Given the description of an element on the screen output the (x, y) to click on. 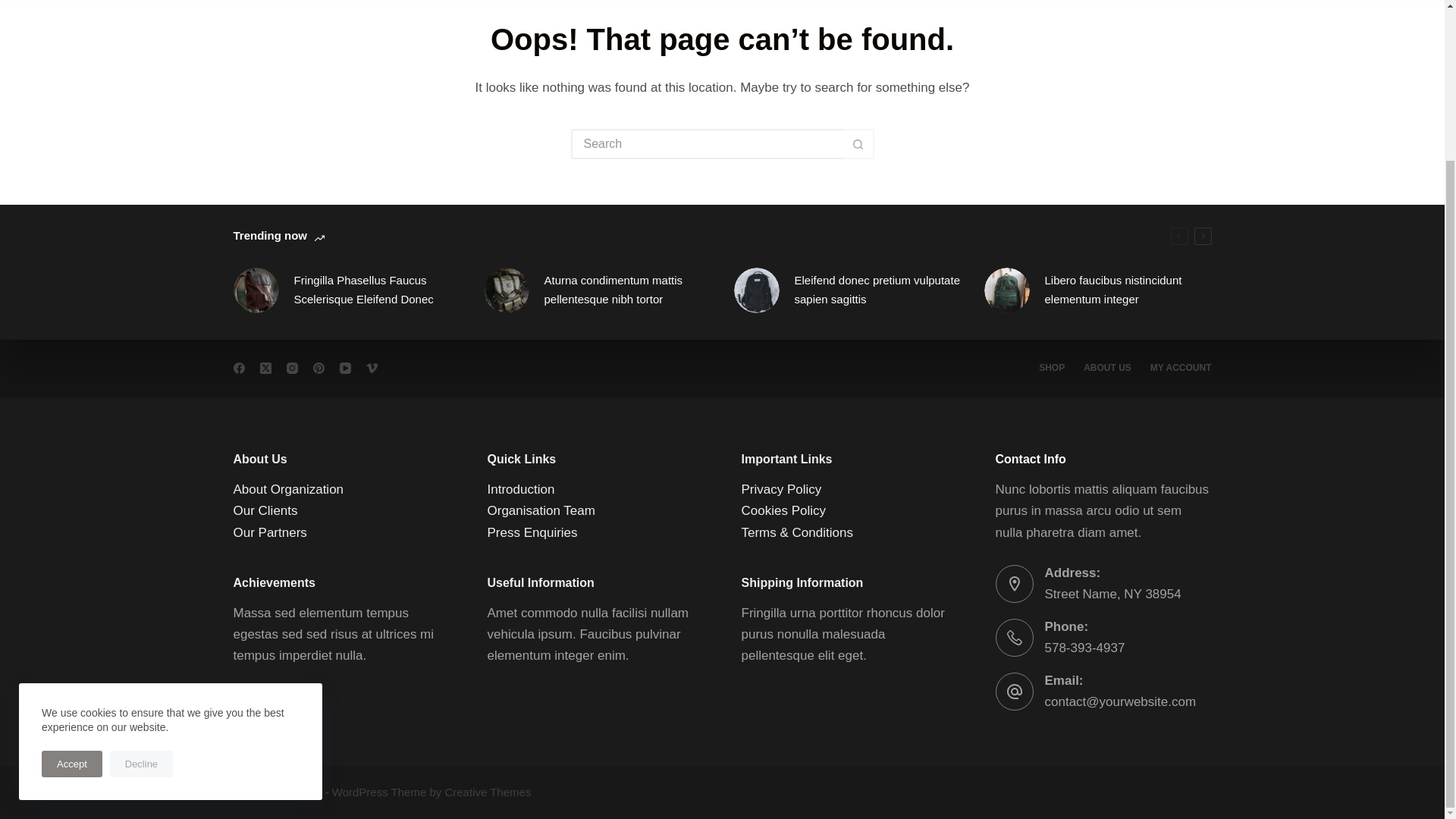
haupes-co-6hpJZcqWt4I-unsplash (1006, 289)
daniel-lincoln-dp75uo9Qflo-unsplash (755, 289)
Search for... (706, 143)
Decline (141, 574)
andrew-neel-UcgSpU8bOYY-unsplash (506, 289)
Accept (71, 574)
